Given the description of an element on the screen output the (x, y) to click on. 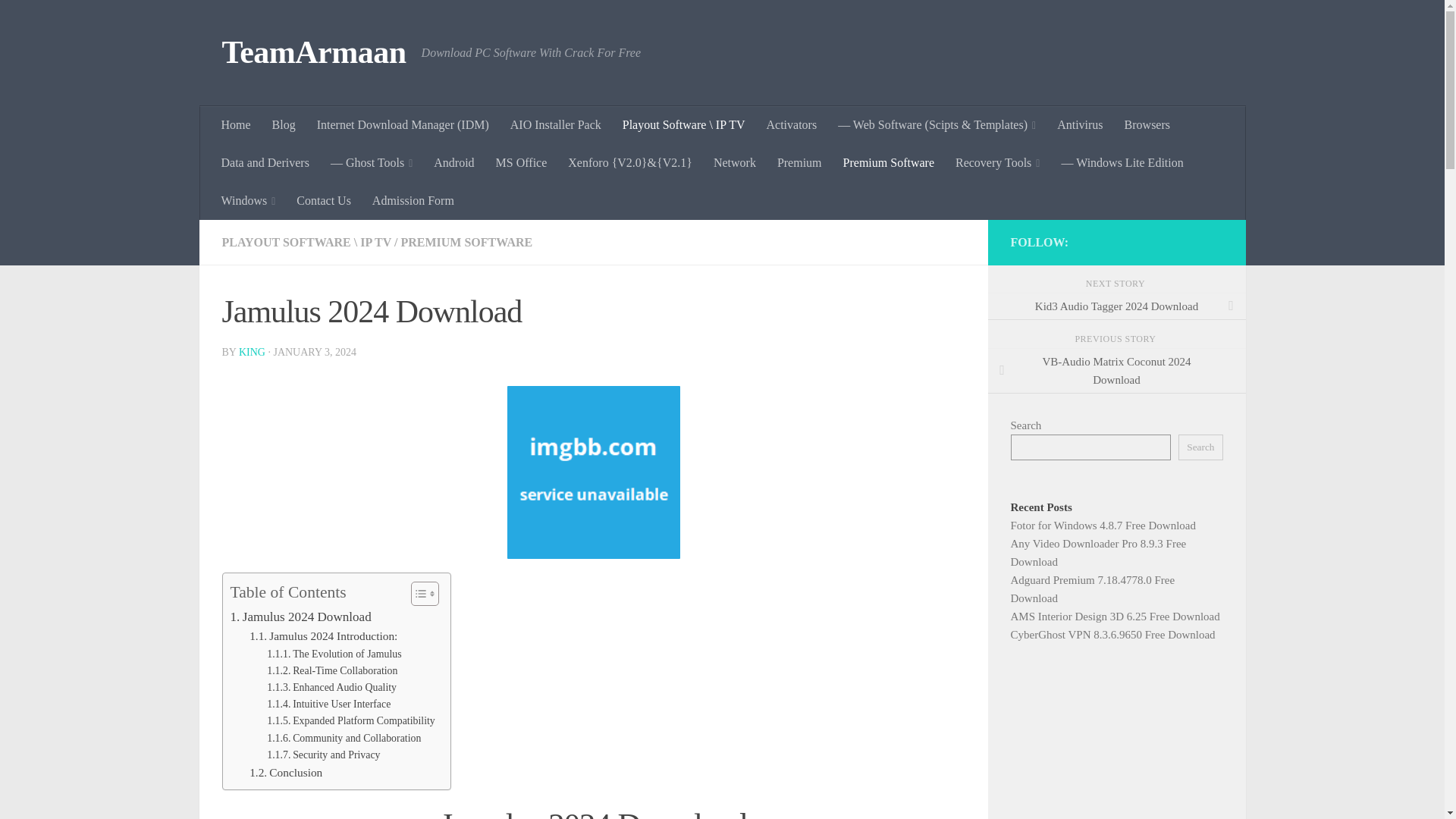
TeamArmaan (313, 53)
Skip to content (59, 20)
Posts by King (251, 351)
Community and Collaboration (343, 738)
The Evolution of Jamulus (333, 654)
Jamulus 2024 Introduction: (322, 636)
Real-Time Collaboration (331, 670)
Conclusion (284, 772)
Security and Privacy (323, 754)
Intuitive User Interface (328, 704)
Enhanced Audio Quality (331, 687)
Expanded Platform Compatibility (350, 720)
Jamulus 2024 Download (300, 616)
